Given the description of an element on the screen output the (x, y) to click on. 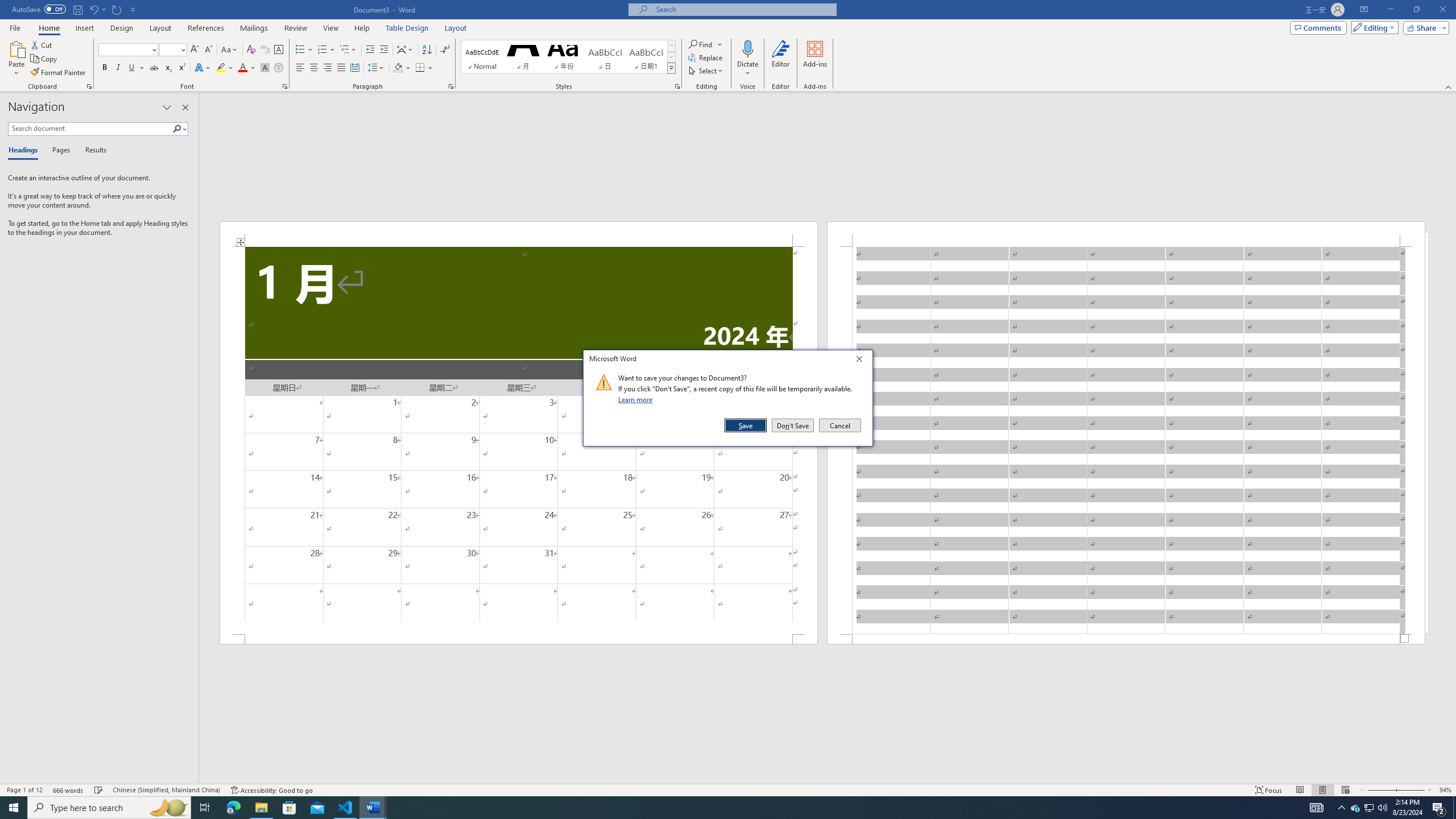
Styles... (676, 85)
Q2790: 100% (1382, 807)
Font... (285, 85)
Word - 2 running windows (373, 807)
Microsoft search (742, 9)
Microsoft Store (289, 807)
